Given the description of an element on the screen output the (x, y) to click on. 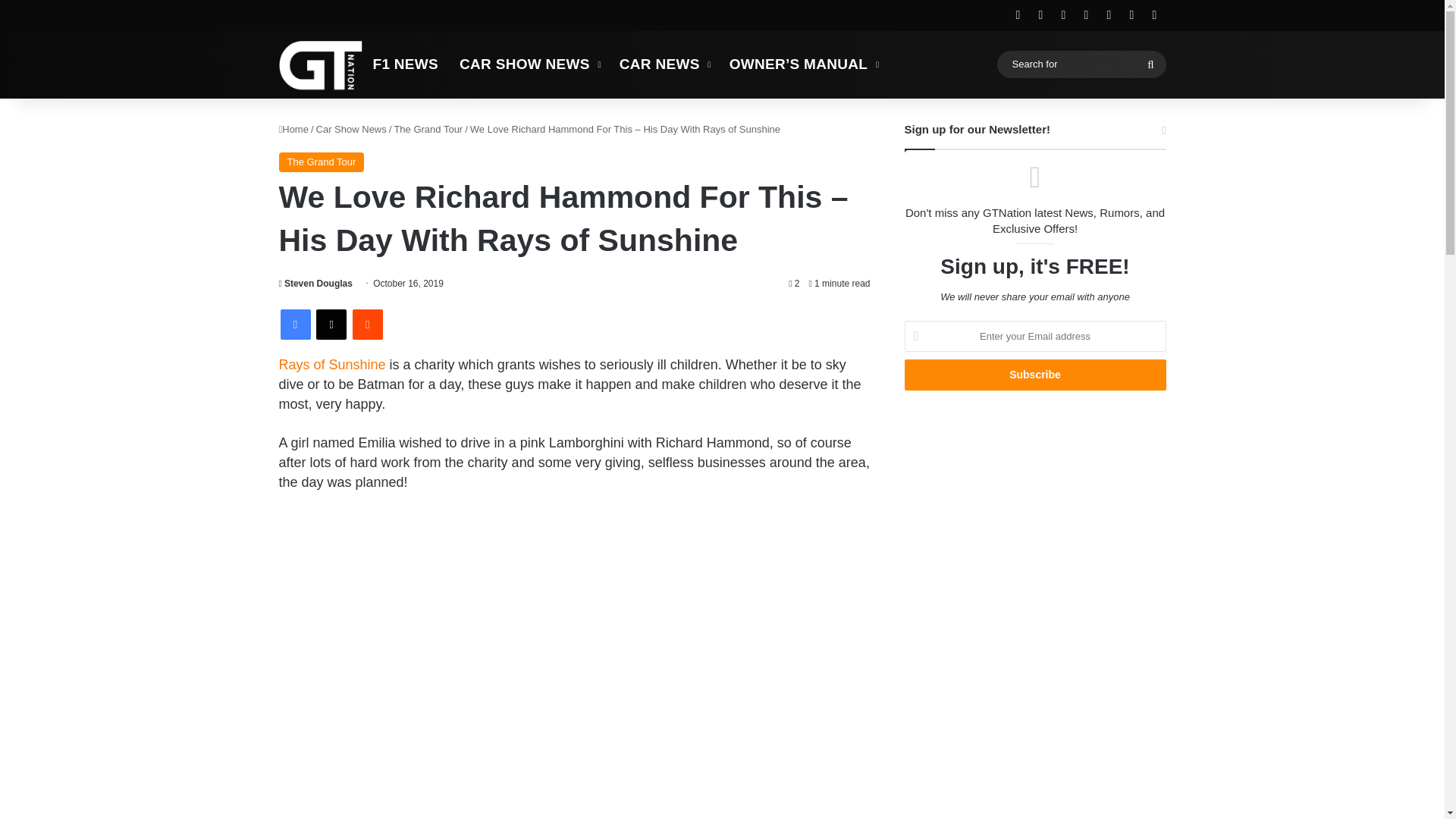
Rays of Sunshine (332, 364)
Search for (1150, 63)
Steven Douglas (315, 283)
The Grand Tour (428, 129)
Reddit (367, 324)
Grand Tour Nation (320, 64)
F1 NEWS (405, 64)
Facebook (296, 324)
Steven Douglas (315, 283)
Reddit (367, 324)
CAR NEWS (663, 64)
Home (293, 129)
X (330, 324)
The Grand Tour (322, 161)
Car Show News (351, 129)
